Given the description of an element on the screen output the (x, y) to click on. 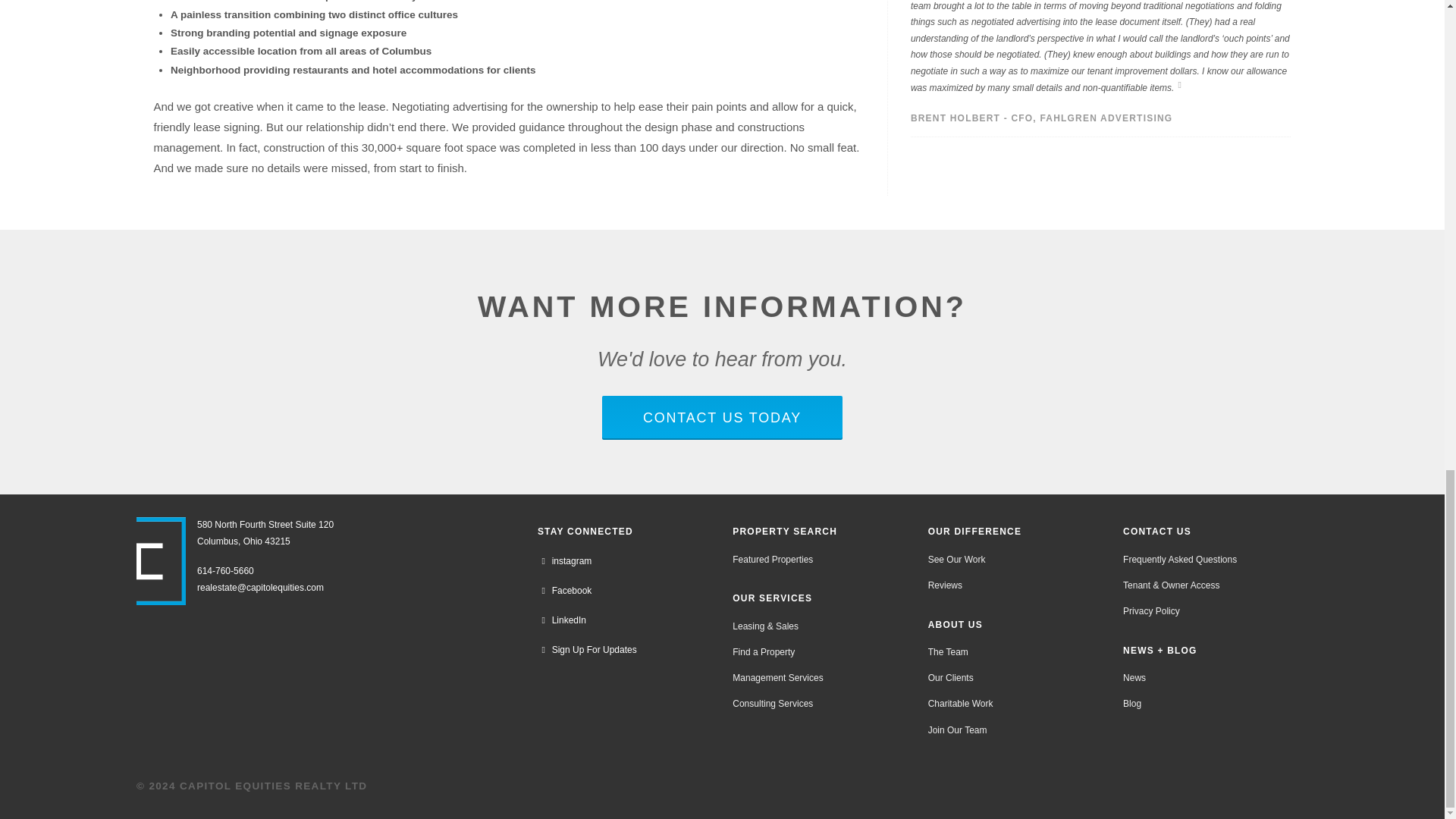
Facebook (563, 591)
See Our Work (956, 559)
PROPERTY SEARCH (784, 531)
OUR SERVICES (772, 598)
Reviews (944, 585)
ABOUT US (955, 624)
Management Services (777, 678)
LinkedIn (561, 620)
Sign Up For Updates (587, 650)
Featured Properties (772, 559)
CONTACT US TODAY (722, 417)
Find a Property (763, 652)
instagram (563, 561)
OUR DIFFERENCE (974, 531)
Consulting Services (772, 704)
